Given the description of an element on the screen output the (x, y) to click on. 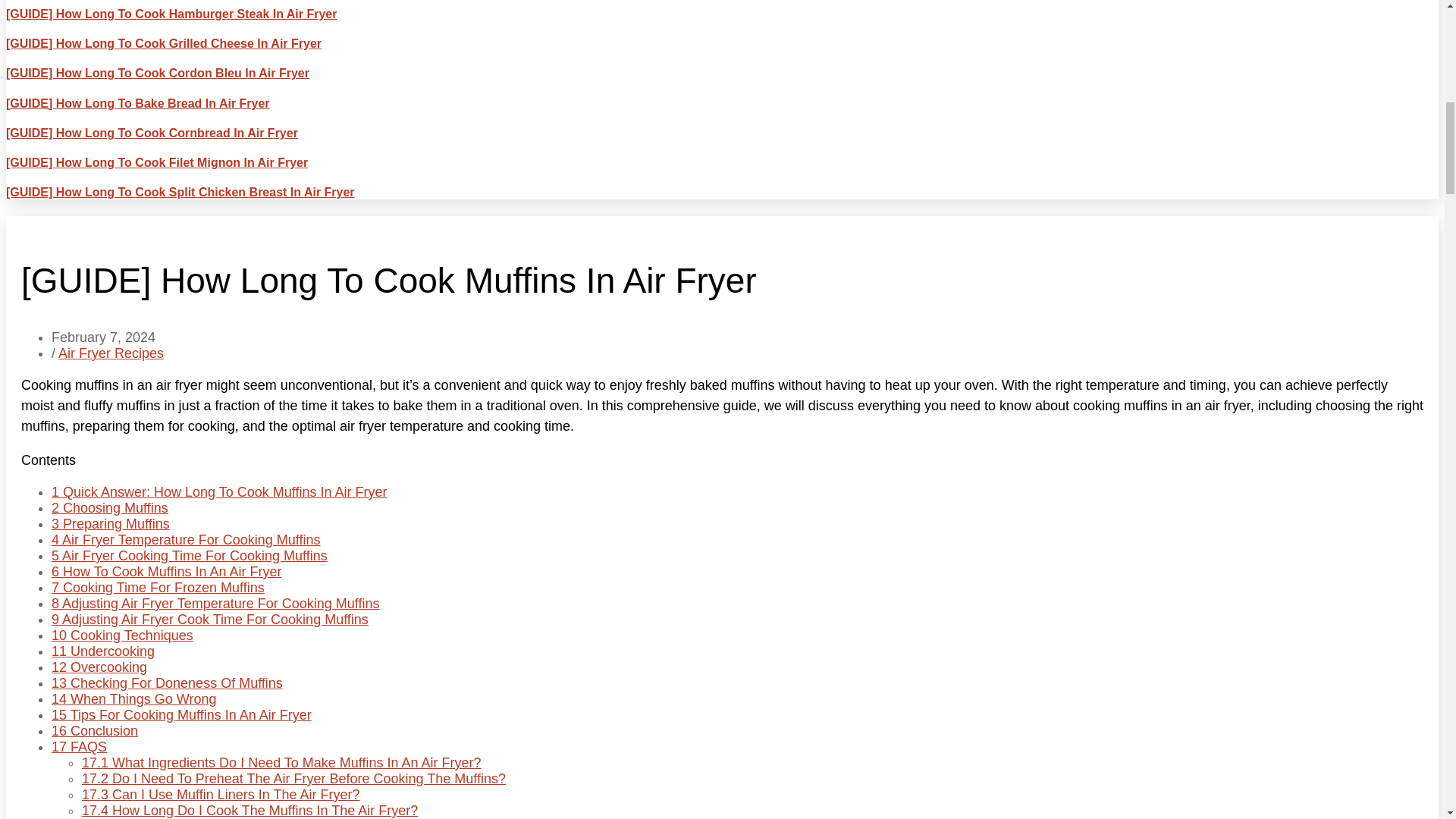
7 Cooking Time For Frozen Muffins (157, 587)
5 Air Fryer Cooking Time For Cooking Muffins (188, 555)
Air Fryer Recipes (110, 353)
6 How To Cook Muffins In An Air Fryer (165, 571)
3 Preparing Muffins (110, 523)
2 Choosing Muffins (109, 507)
4 Air Fryer Temperature For Cooking Muffins (185, 539)
8 Adjusting Air Fryer Temperature For Cooking Muffins (215, 603)
1 Quick Answer: How Long To Cook Muffins In Air Fryer (218, 491)
9 Adjusting Air Fryer Cook Time For Cooking Muffins (209, 619)
